Given the description of an element on the screen output the (x, y) to click on. 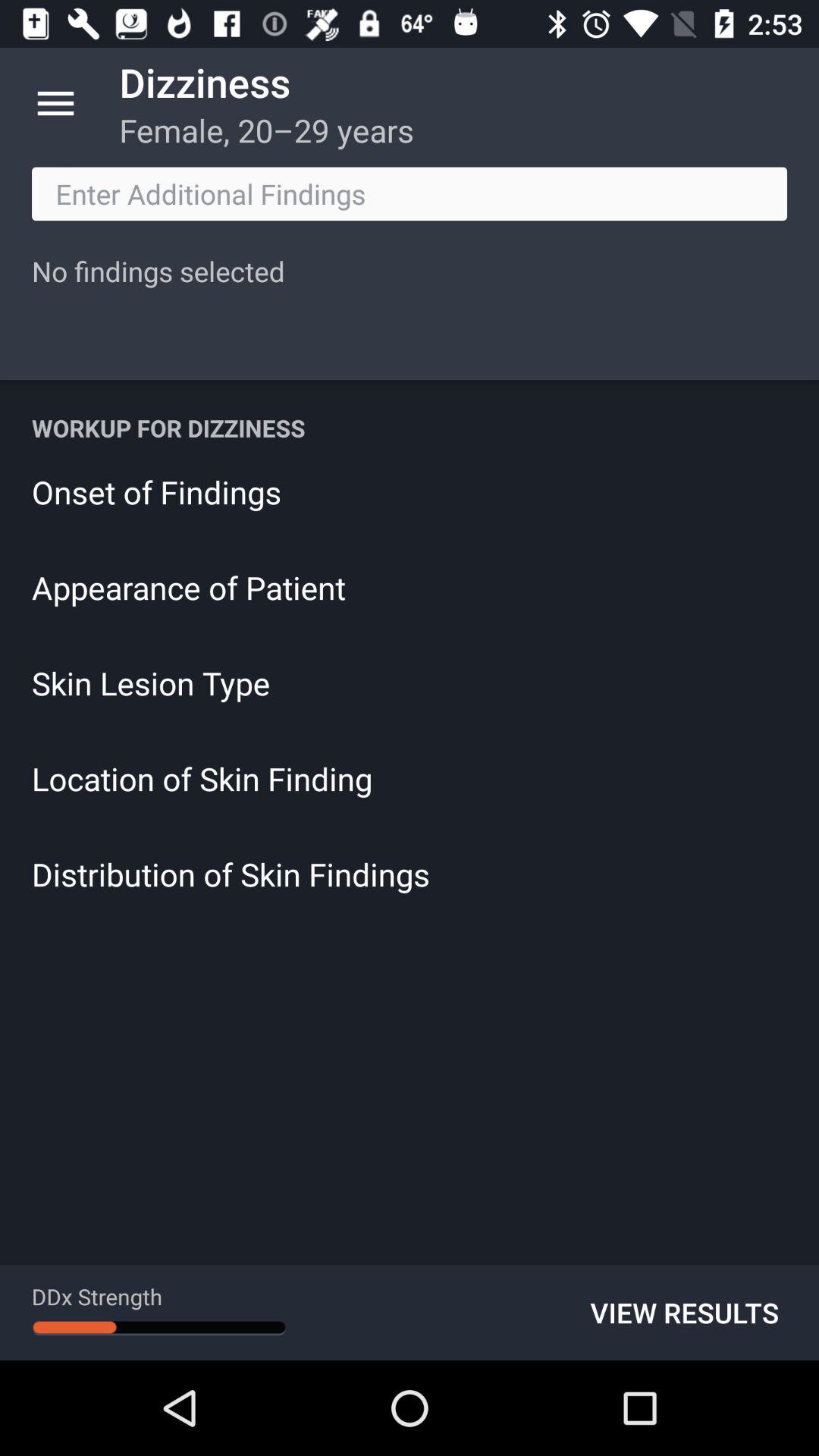
select the item above location of skin icon (409, 682)
